Given the description of an element on the screen output the (x, y) to click on. 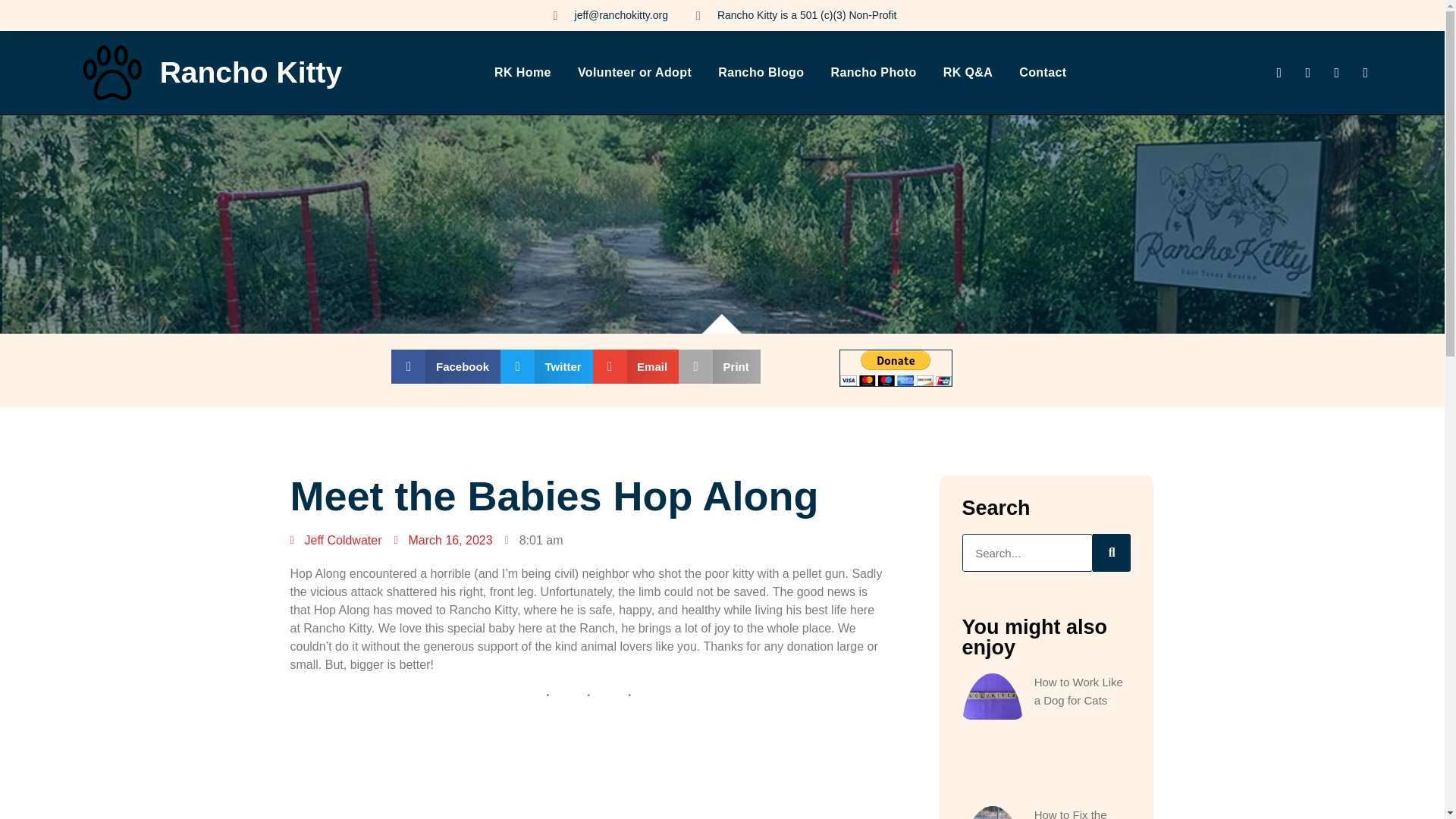
Volunteer or Adopt (634, 72)
Rancho Photo (872, 72)
Rancho Blogo (760, 72)
PayPal - The safer, easier way to pay online! (896, 367)
paw favicon (114, 72)
Rancho Kitty (251, 72)
Jeff Coldwater (335, 540)
March 16, 2023 (442, 540)
Contact (1042, 72)
RK Home (523, 72)
